Given the description of an element on the screen output the (x, y) to click on. 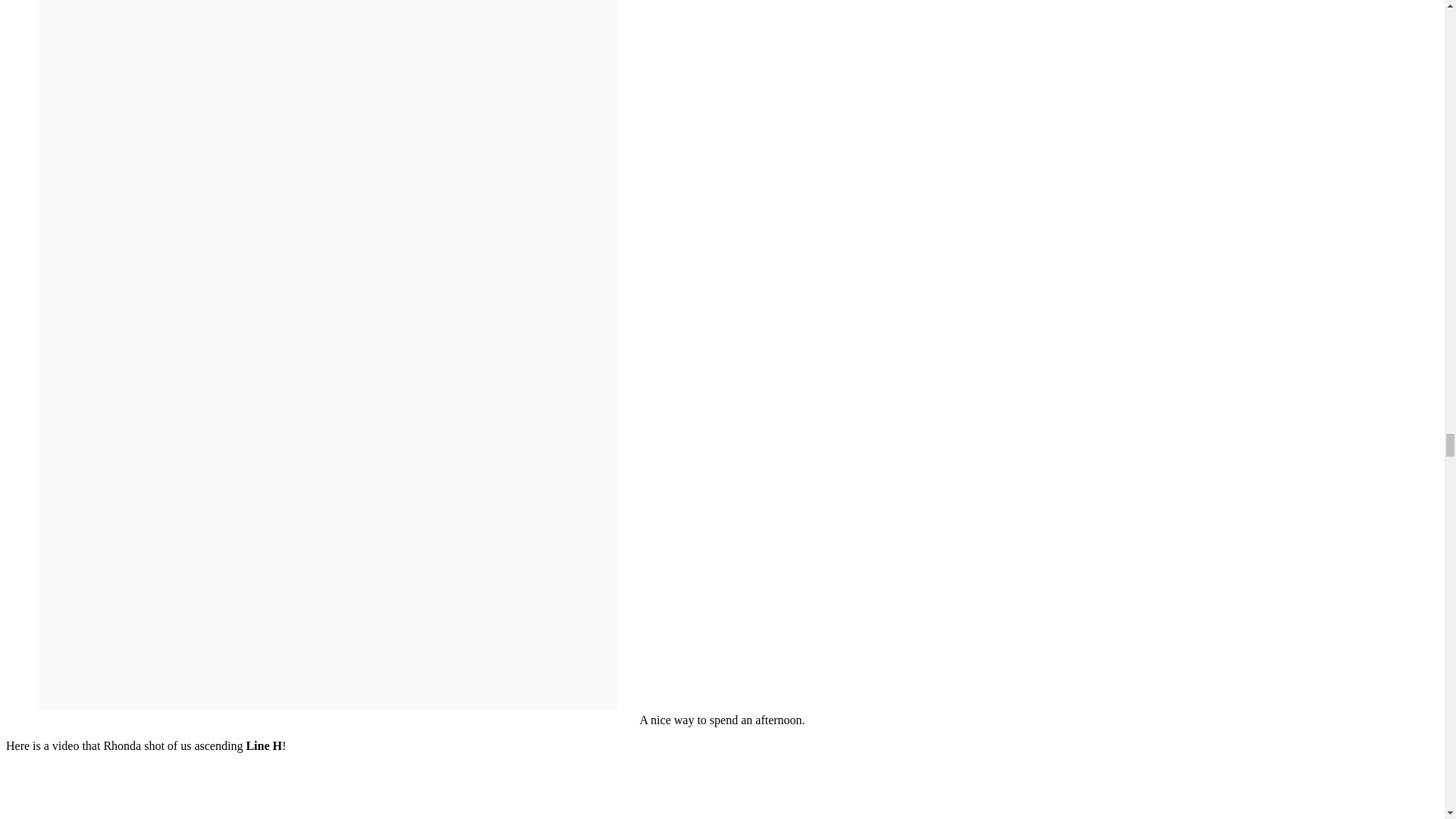
Ascending The Line H Gondola - Medellin, Colombia (278, 791)
